Given the description of an element on the screen output the (x, y) to click on. 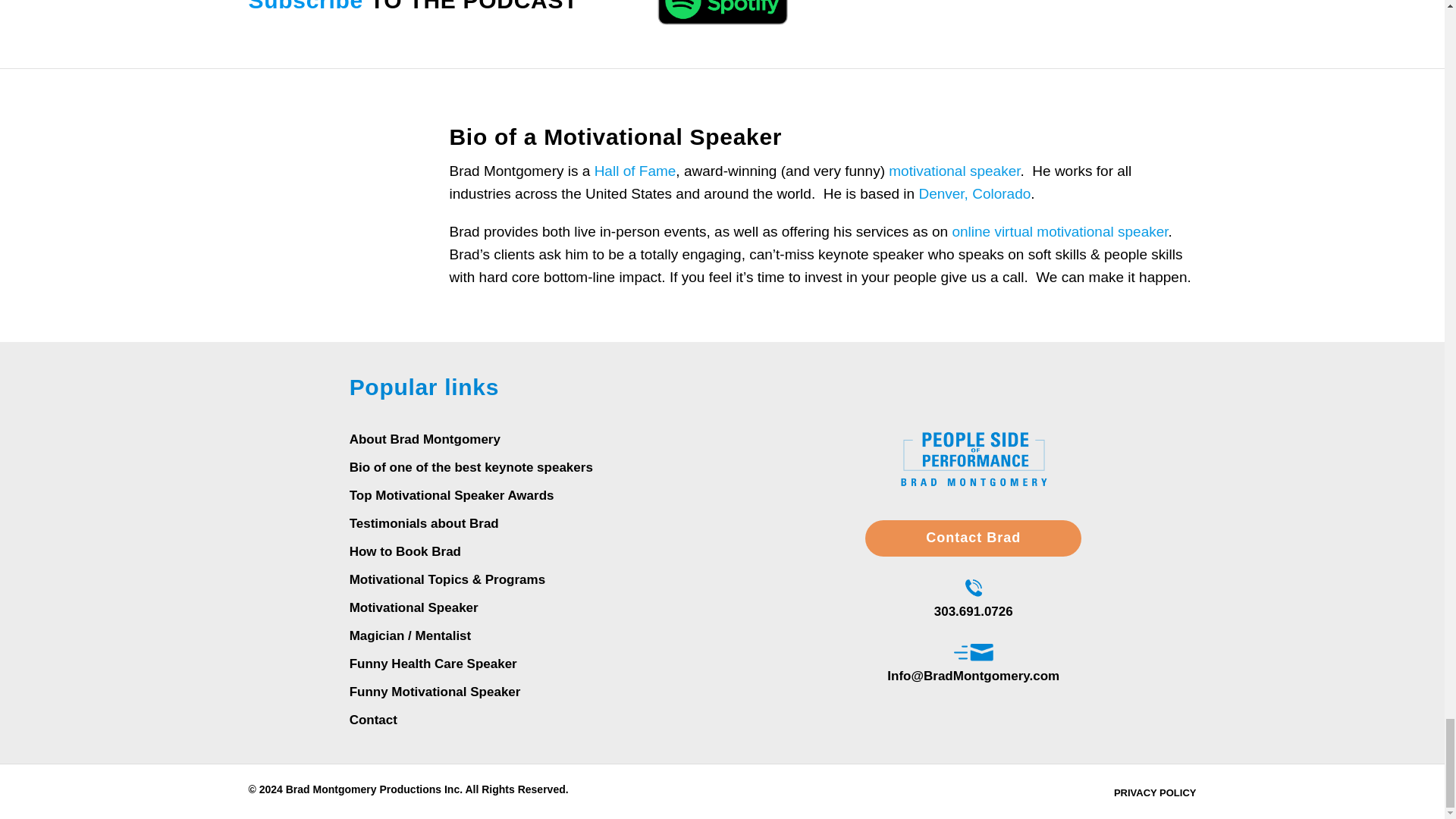
Top Motivational Speaker Awards (451, 495)
Testimonials about Brad (424, 523)
spotify (722, 14)
Denver, Colorado (974, 193)
Bio of one of the best keynote speakers (470, 467)
motivational speaker (954, 170)
About Brad Montgomery (424, 439)
How to Book Brad (405, 551)
Hall of Fame (635, 170)
online virtual motivational speaker (1059, 231)
